Given the description of an element on the screen output the (x, y) to click on. 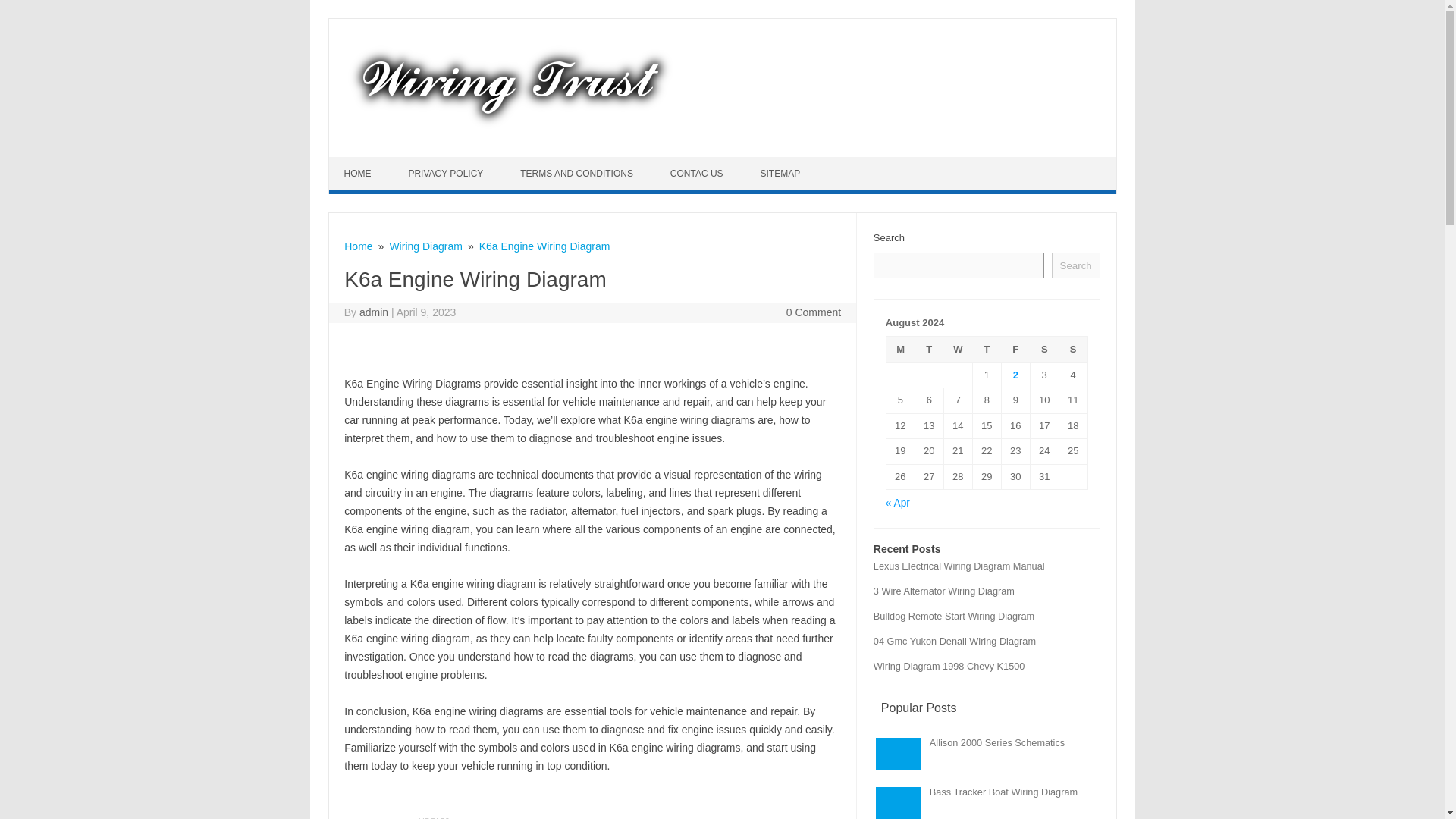
Allison 2000 Series Schematics (997, 742)
Posts by admin (373, 312)
admin (373, 312)
0 Comment (813, 312)
Skip to content (363, 162)
Wiring Diagram (509, 131)
Bulldog Remote Start Wiring Diagram (953, 615)
Lexus Electrical Wiring Diagram Manual (959, 565)
3 Wire Alternator Wiring Diagram (943, 591)
SITEMAP (781, 173)
K6a Engine Wiring Diagram (544, 246)
Bass Tracker Boat Wiring Diagram (1003, 791)
Search (1075, 265)
Wiring Diagram (424, 246)
Skip to content (363, 162)
